Given the description of an element on the screen output the (x, y) to click on. 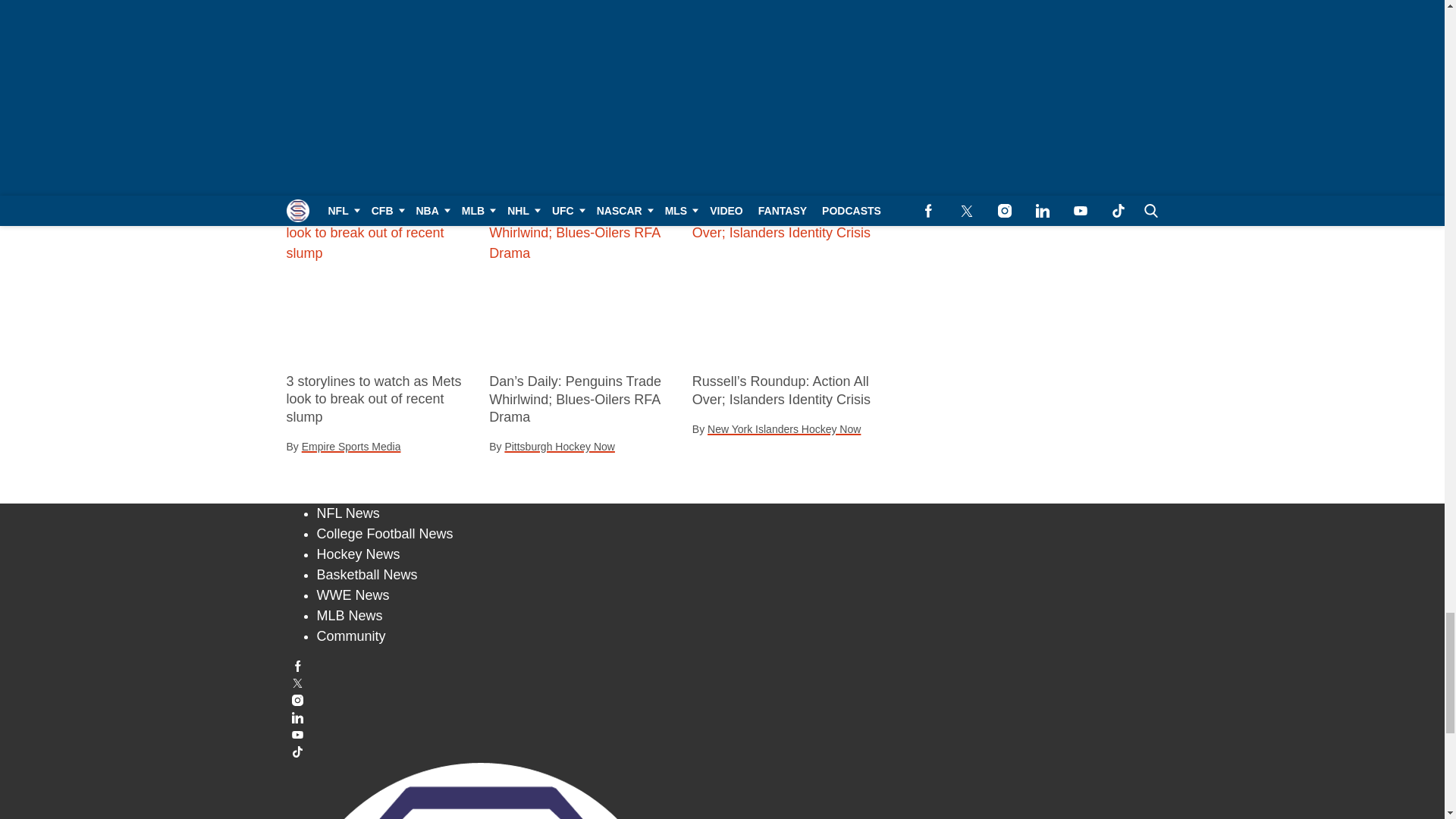
Follow us on Facebook (722, 665)
Follow us on Instagram (722, 699)
Subscribe to our YouTube channel (722, 734)
Connect with us on TikTok (722, 751)
Follow us on Twitter (722, 683)
Connect with us on LinkedIn (722, 717)
